Given the description of an element on the screen output the (x, y) to click on. 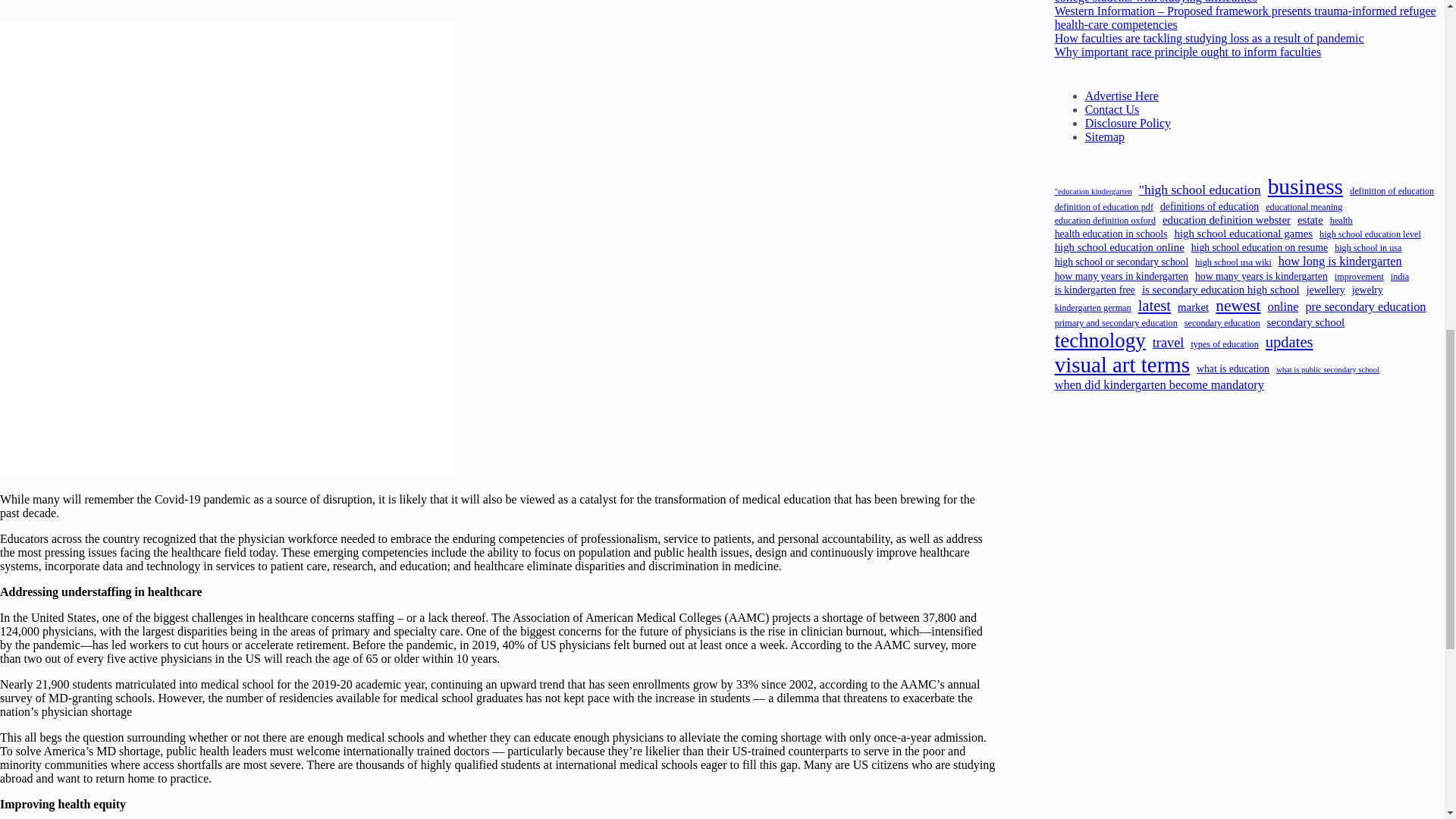
"high school education (1199, 189)
definitions of education (1209, 206)
"education kindergarten (1093, 191)
Advertise Here (1121, 95)
Disclosure Policy (1127, 123)
definition of education pdf (1103, 206)
Sitemap (1104, 136)
business (1305, 186)
Why important race principle ought to inform faculties (1187, 51)
